Given the description of an element on the screen output the (x, y) to click on. 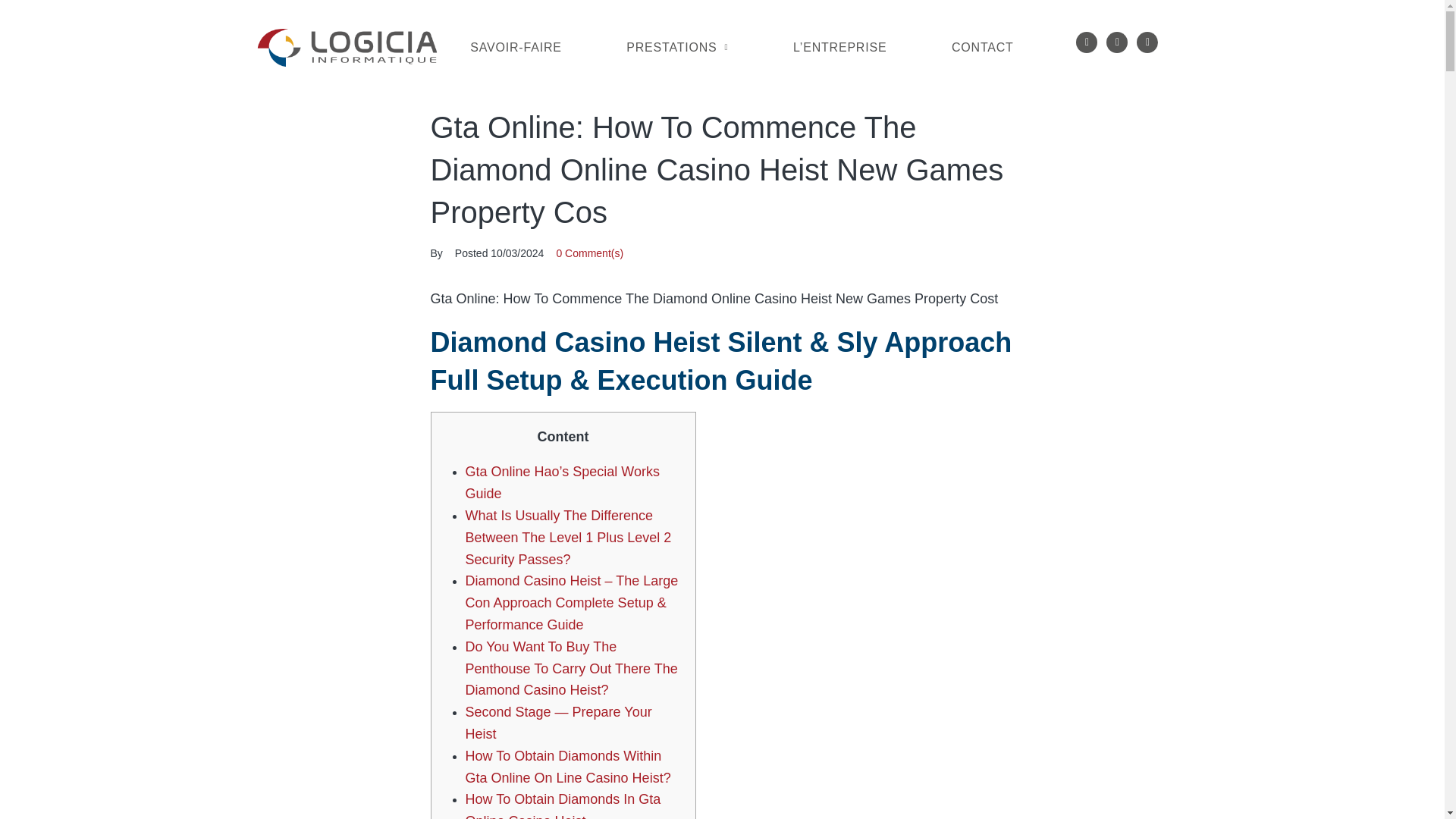
CONTACT (981, 47)
PRESTATIONS (677, 47)
How To Obtain Diamonds In Gta Online Casino Heist (563, 805)
SAVOIR-FAIRE (516, 47)
